Given the description of an element on the screen output the (x, y) to click on. 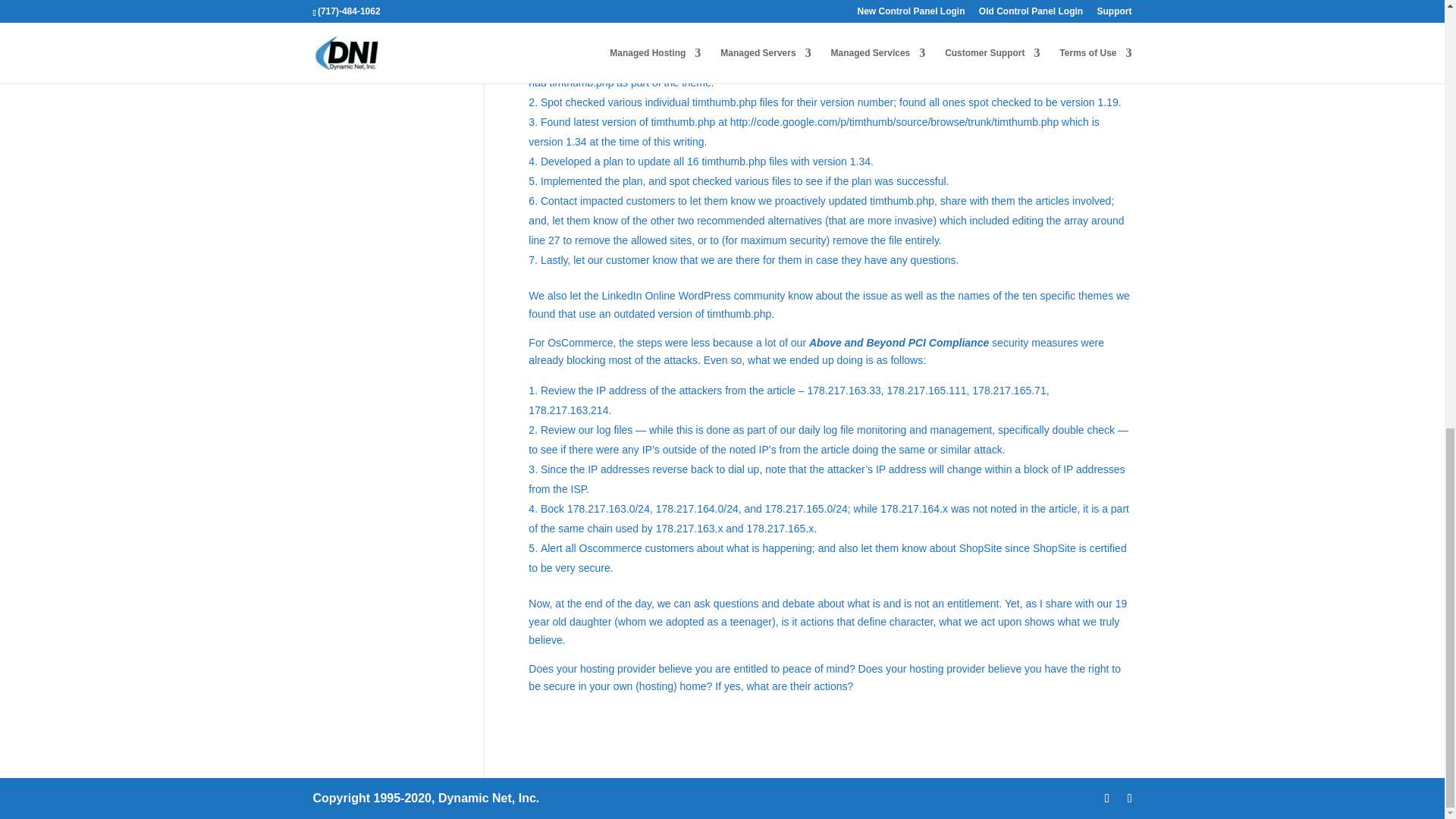
Above and Beyond PCI Compliance (898, 342)
Log file monitoring and management (894, 429)
Current version of timthumb.php (894, 121)
